Given the description of an element on the screen output the (x, y) to click on. 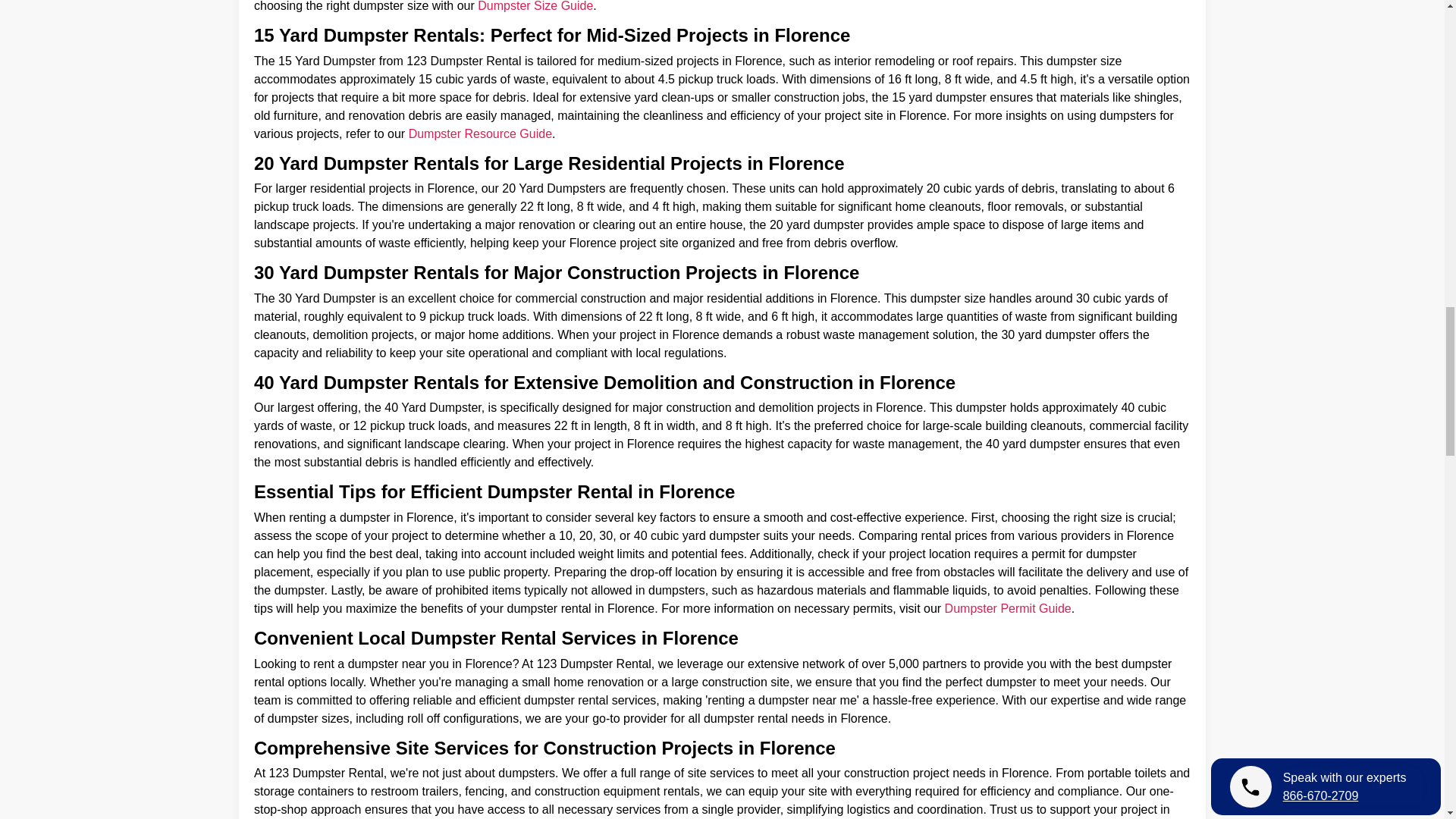
Dumpster Permit Guide (1007, 608)
Dumpster Resource Guide (480, 133)
Dumpster Size Guide (534, 6)
